Given the description of an element on the screen output the (x, y) to click on. 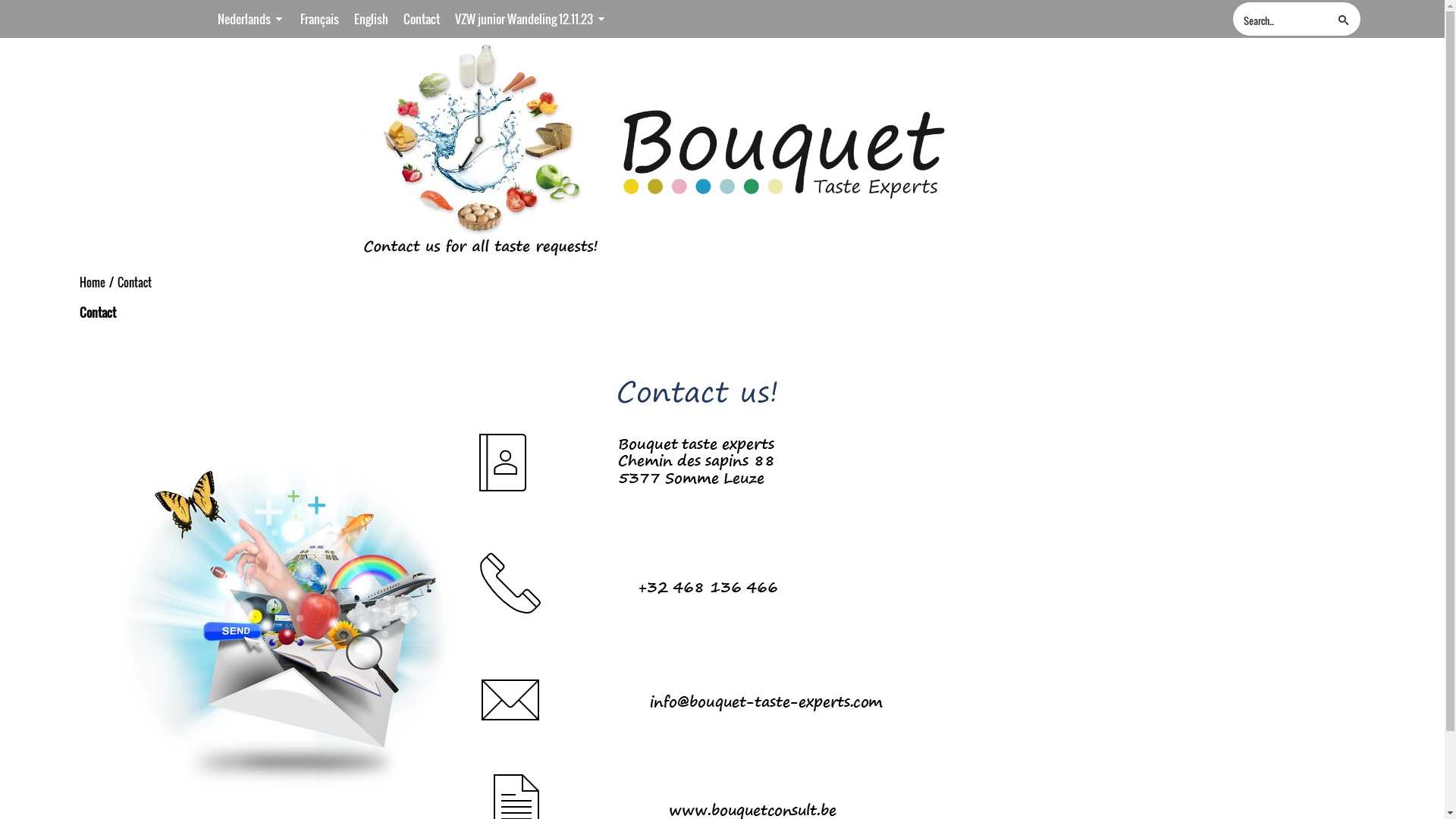
Contact Element type: text (134, 284)
VZW junior Wandeling 12.11.23 Element type: text (531, 18)
Nederlands Element type: text (250, 18)
Contact Element type: text (421, 18)
Home Element type: text (92, 284)
English Element type: text (370, 18)
